Given the description of an element on the screen output the (x, y) to click on. 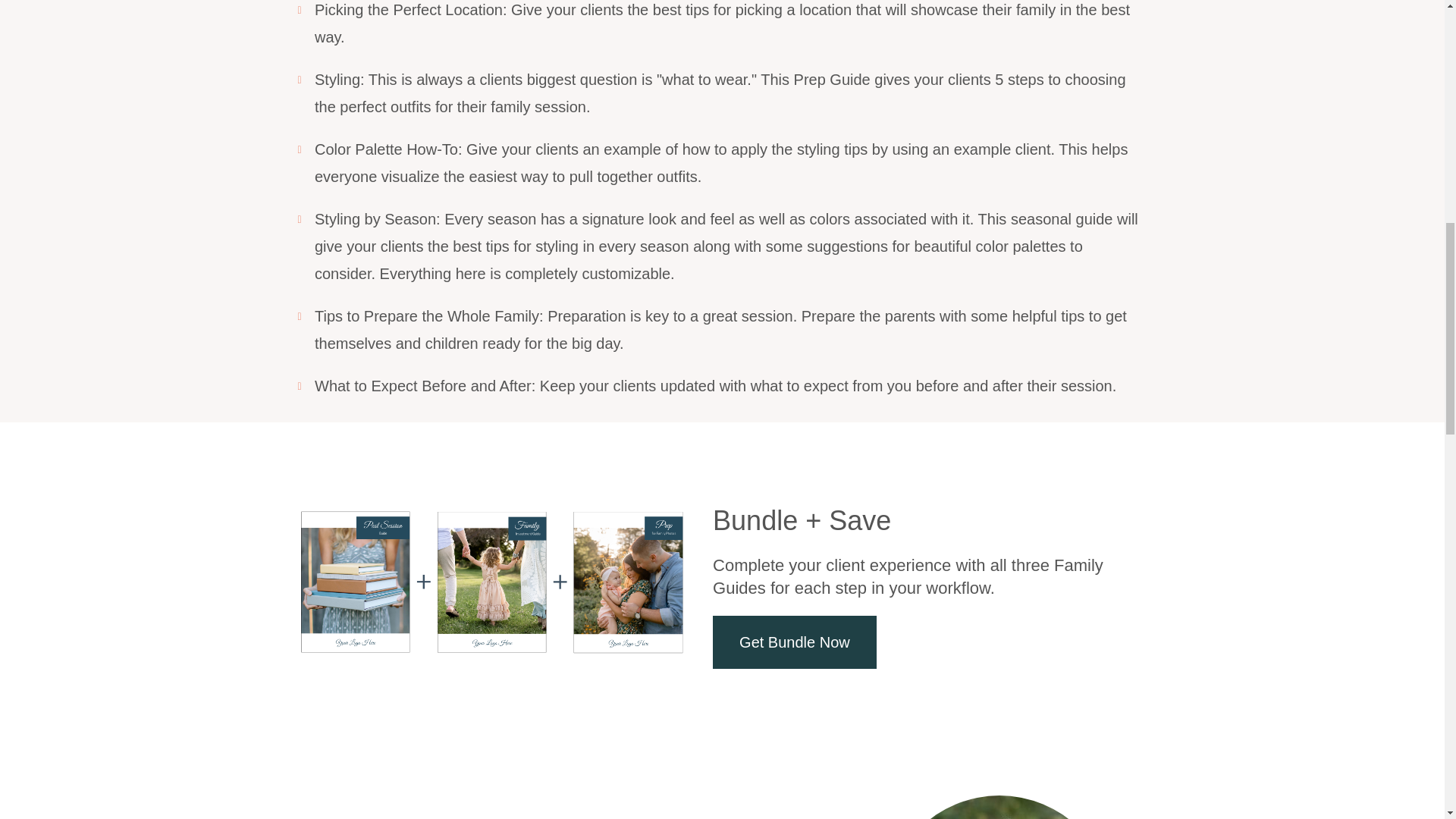
Steph (999, 807)
